Given the description of an element on the screen output the (x, y) to click on. 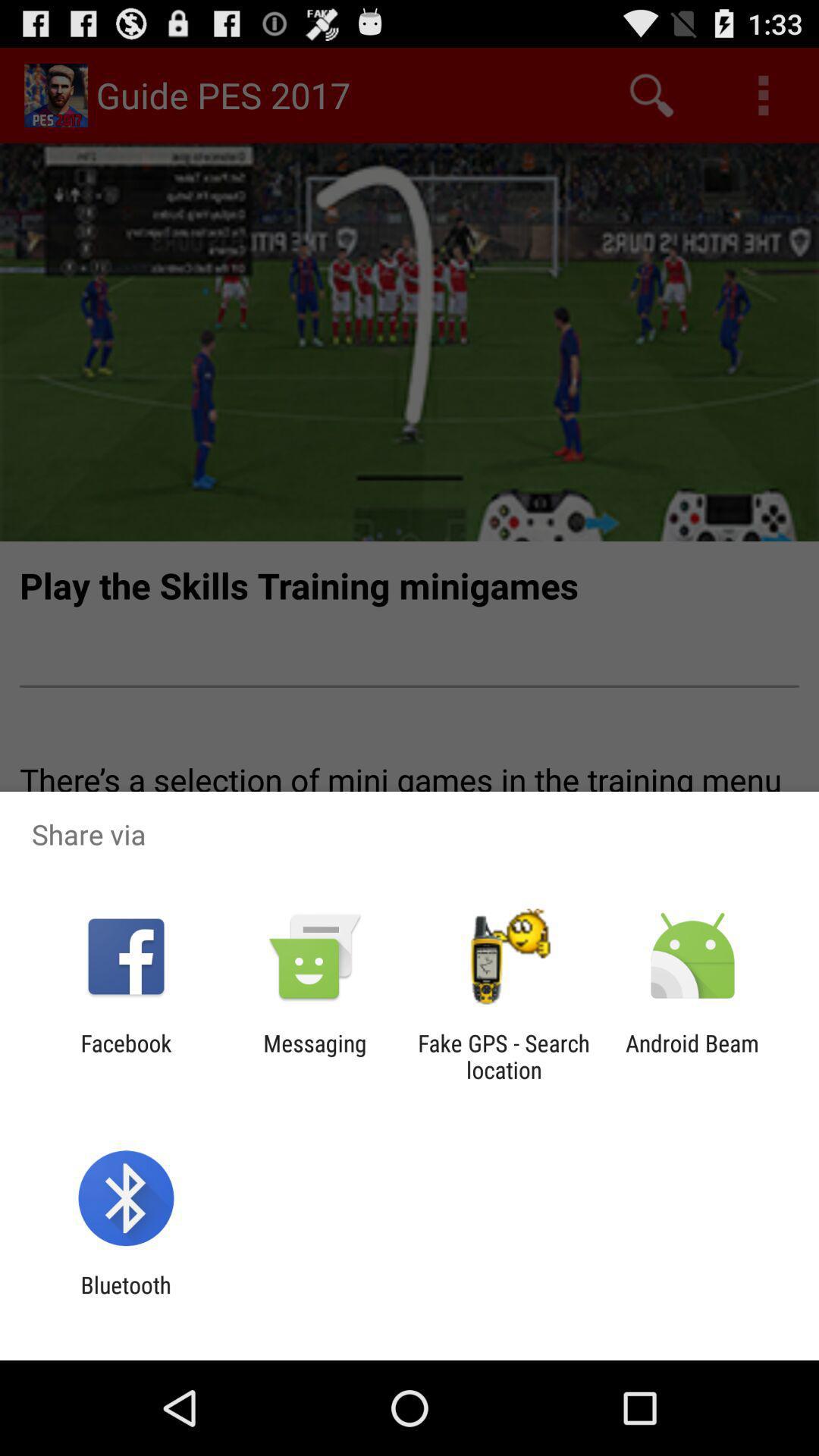
open the bluetooth (125, 1298)
